Given the description of an element on the screen output the (x, y) to click on. 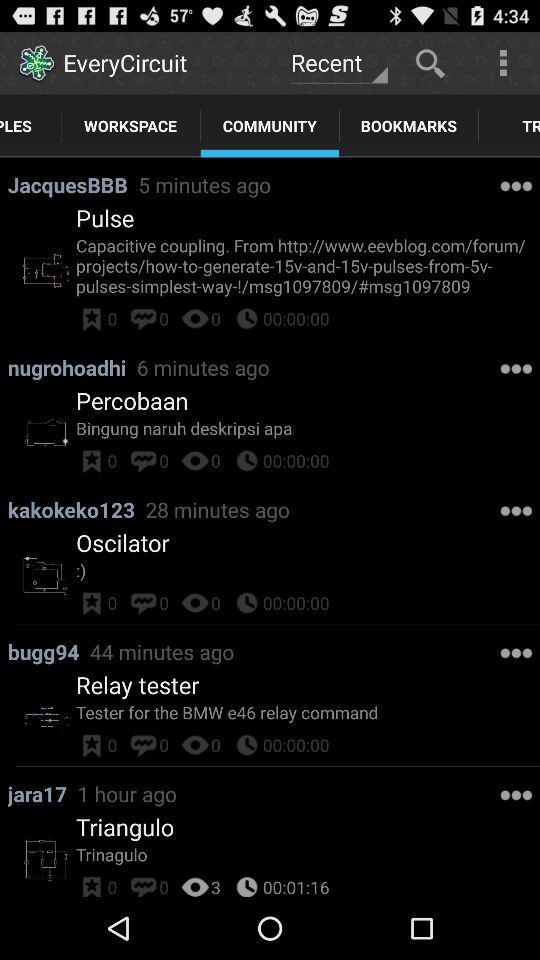
turn off icon above trinagulo icon (125, 827)
